Given the description of an element on the screen output the (x, y) to click on. 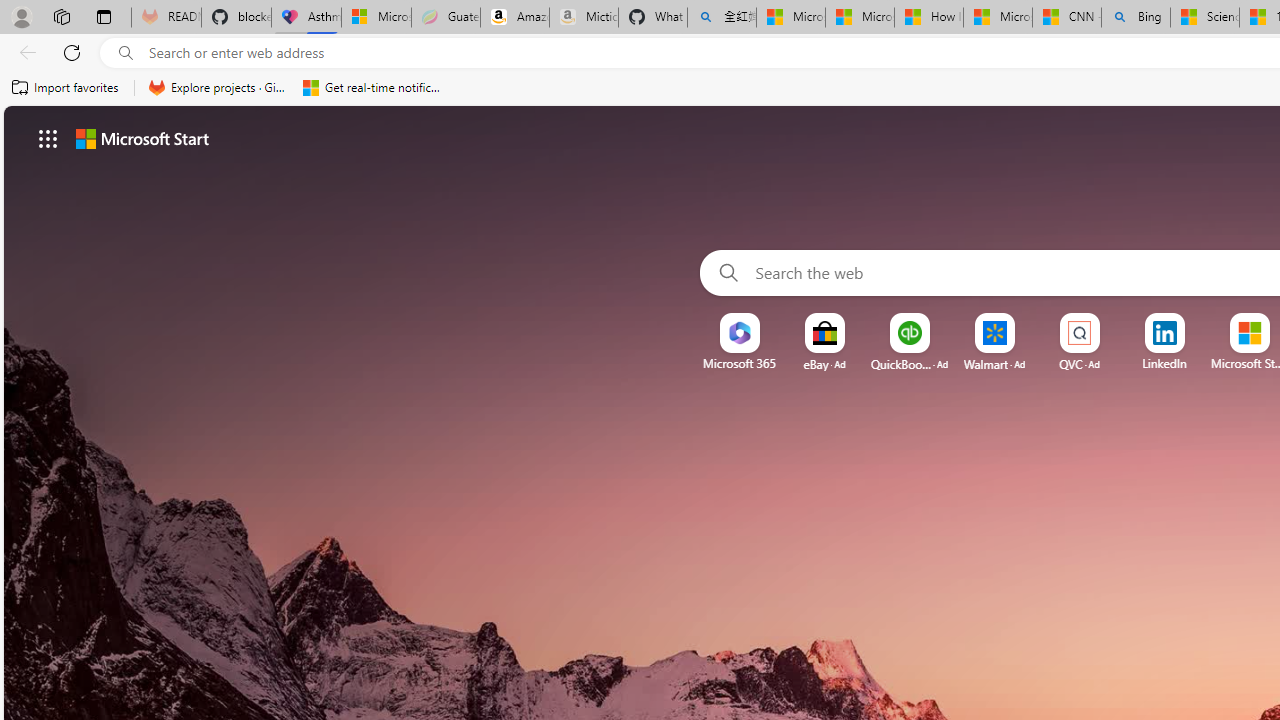
Bing (1135, 17)
